Given the description of an element on the screen output the (x, y) to click on. 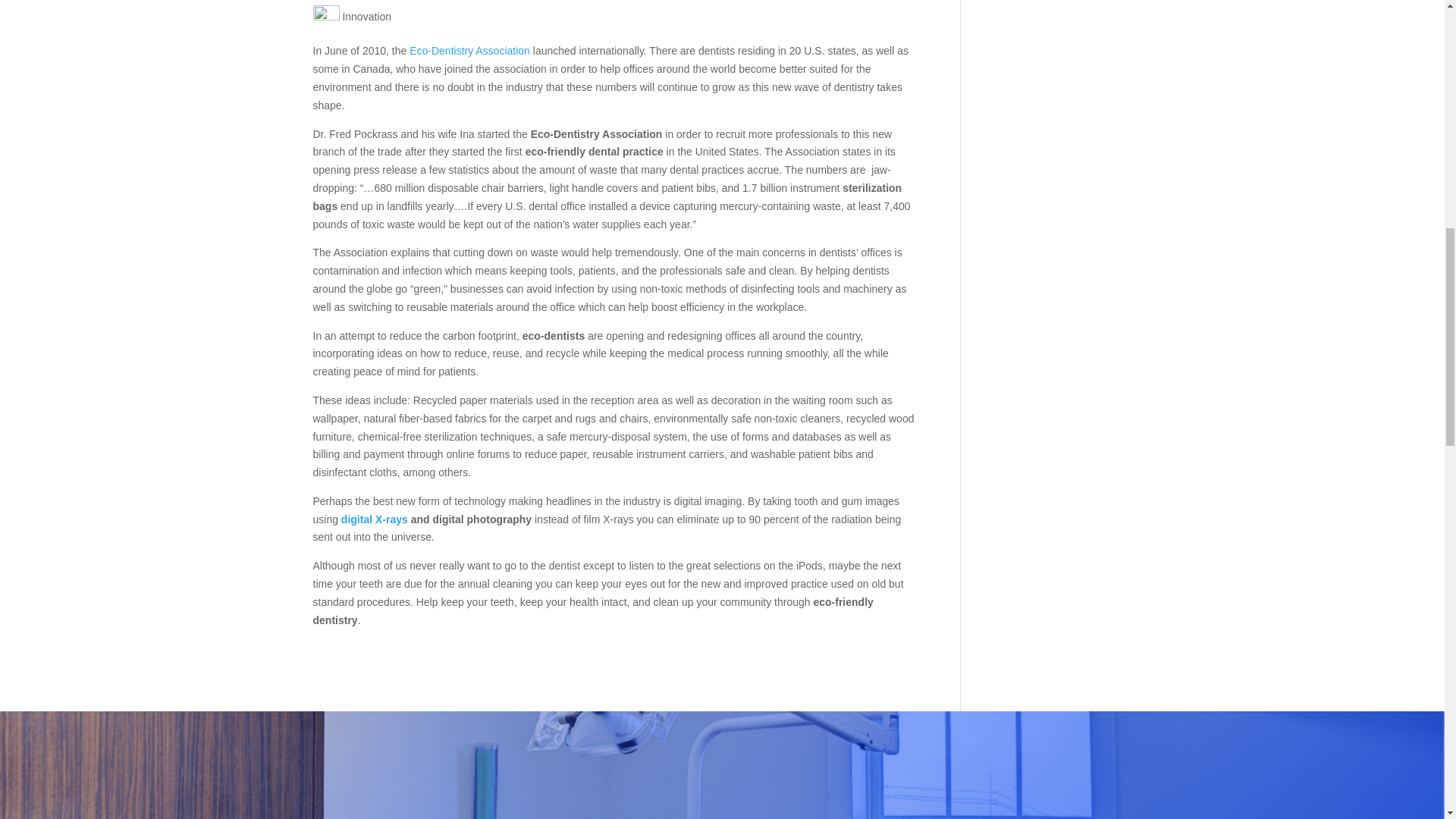
Digtial Xrays Lower Radiation and are EcoFriendly (375, 519)
